Given the description of an element on the screen output the (x, y) to click on. 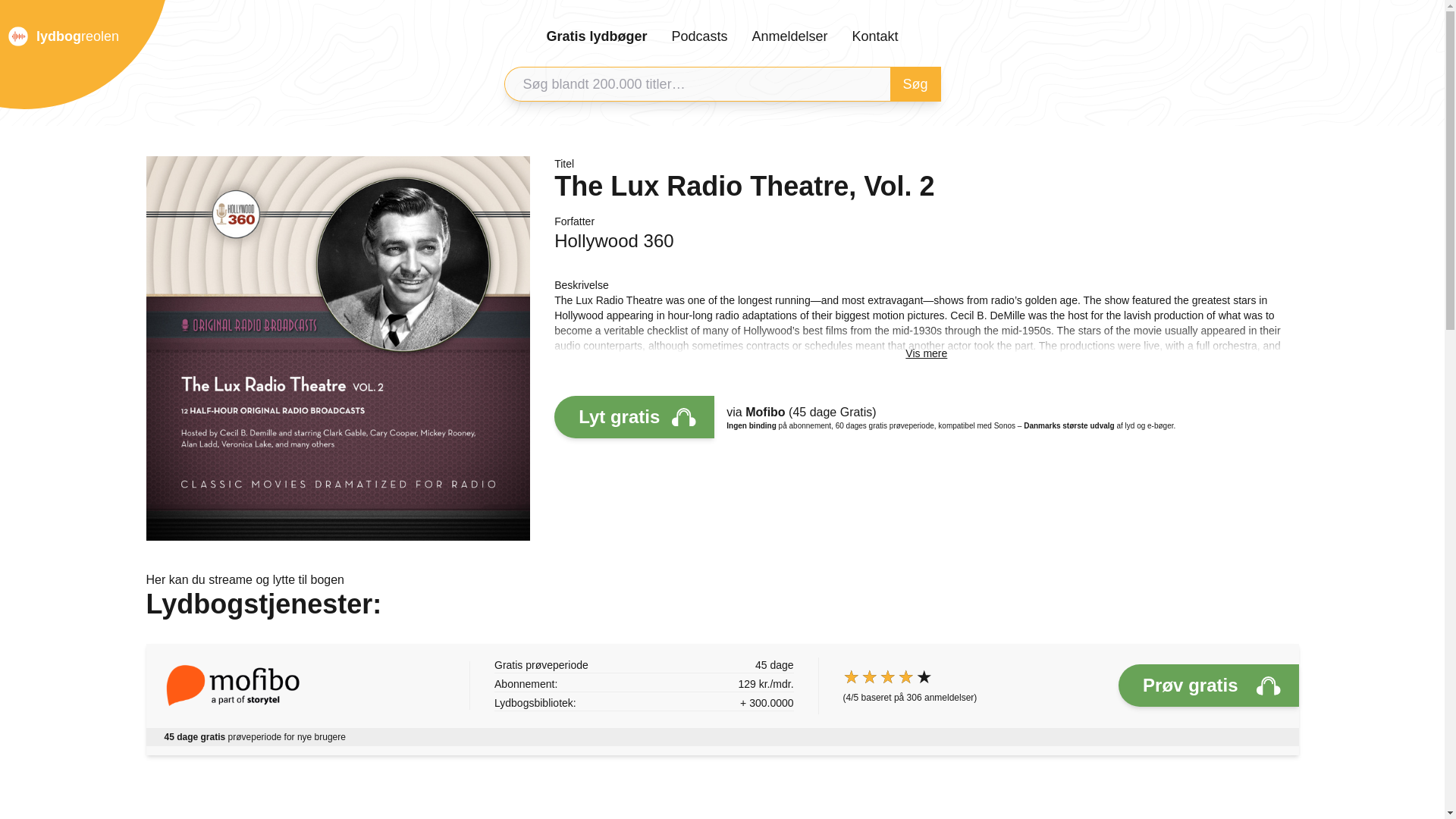
Lyt gratis (634, 416)
Kontakt (874, 35)
Podcasts (698, 35)
Vis mere (926, 353)
Anmeldelser (789, 35)
